Given the description of an element on the screen output the (x, y) to click on. 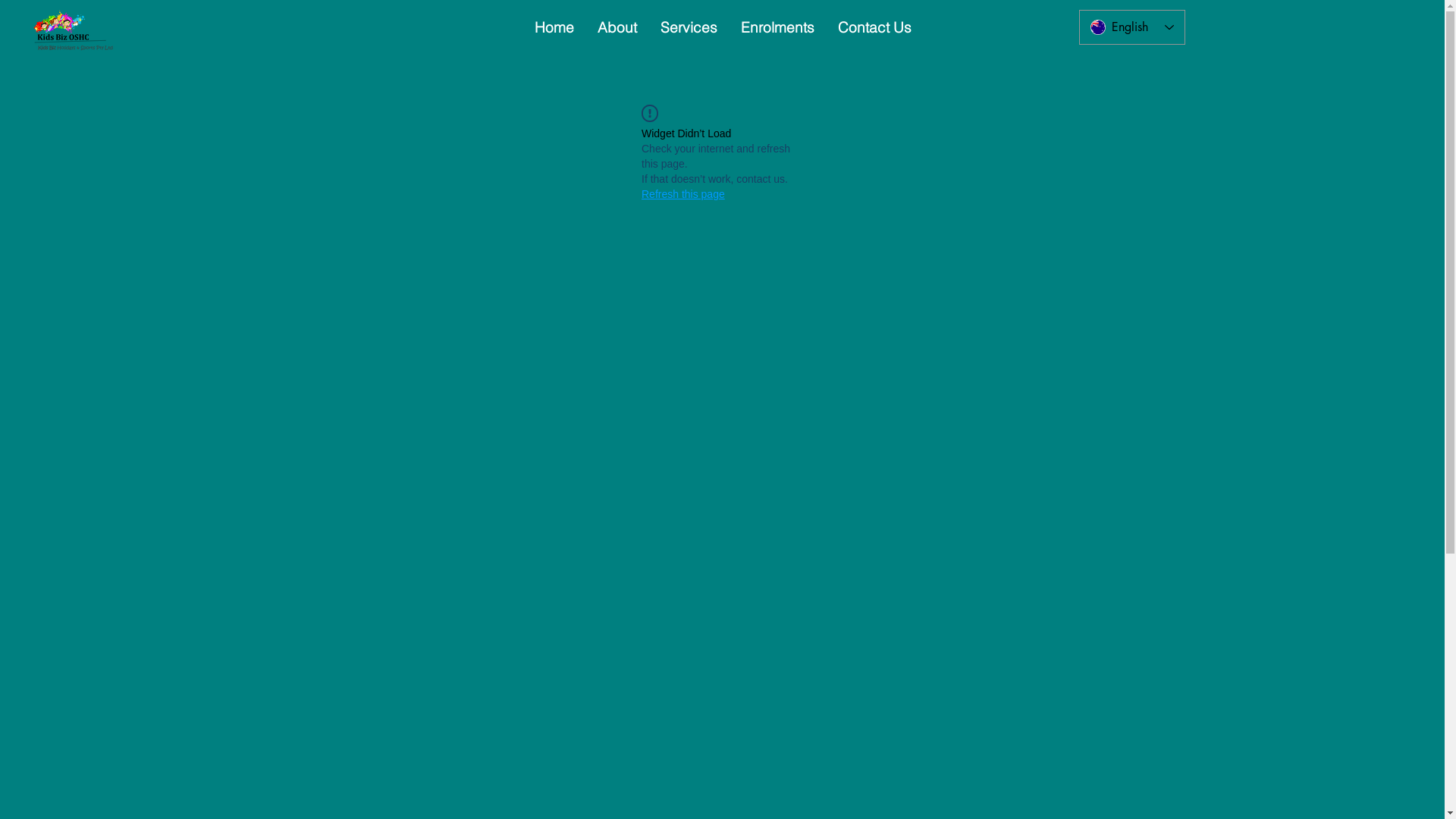
Refresh this page Element type: text (682, 193)
Services Element type: text (687, 27)
Enrolments Element type: text (776, 27)
Contact Us Element type: text (873, 27)
About Element type: text (616, 27)
Home Element type: text (552, 27)
